Given the description of an element on the screen output the (x, y) to click on. 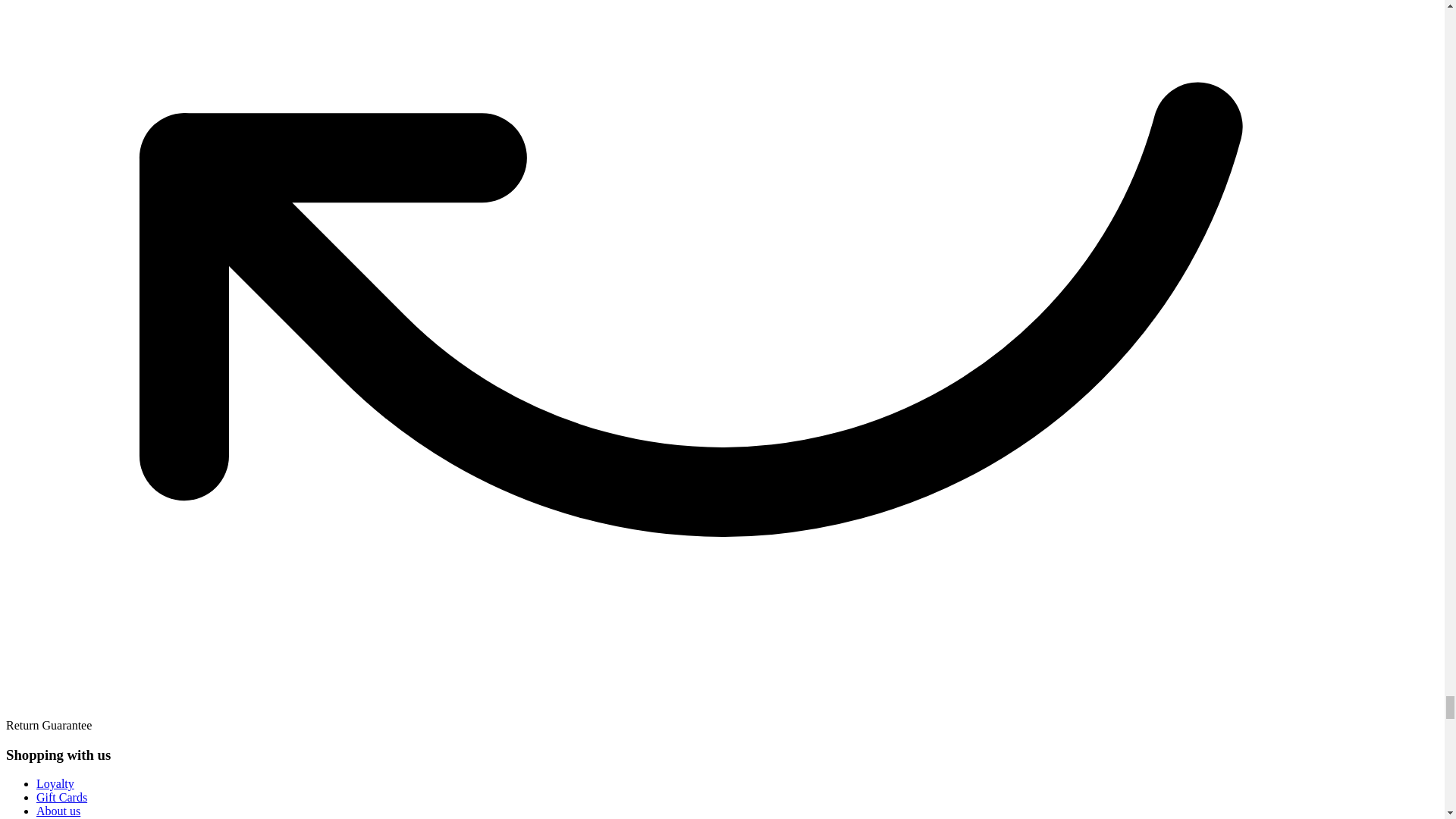
Gift Cards (61, 797)
Loyalty (55, 783)
About us (58, 810)
